Given the description of an element on the screen output the (x, y) to click on. 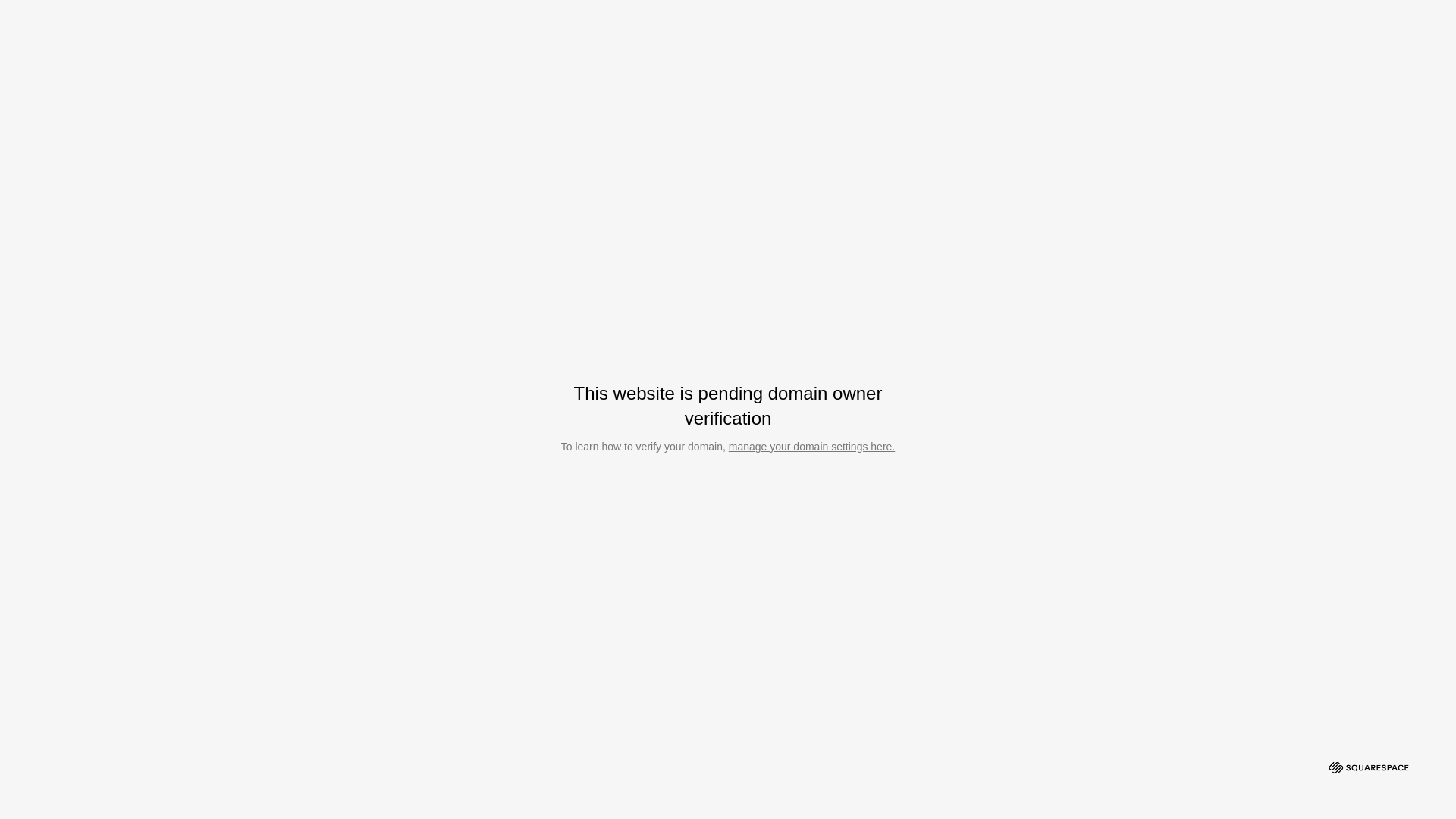
manage your domain settings here. Element type: text (811, 446)
